Given the description of an element on the screen output the (x, y) to click on. 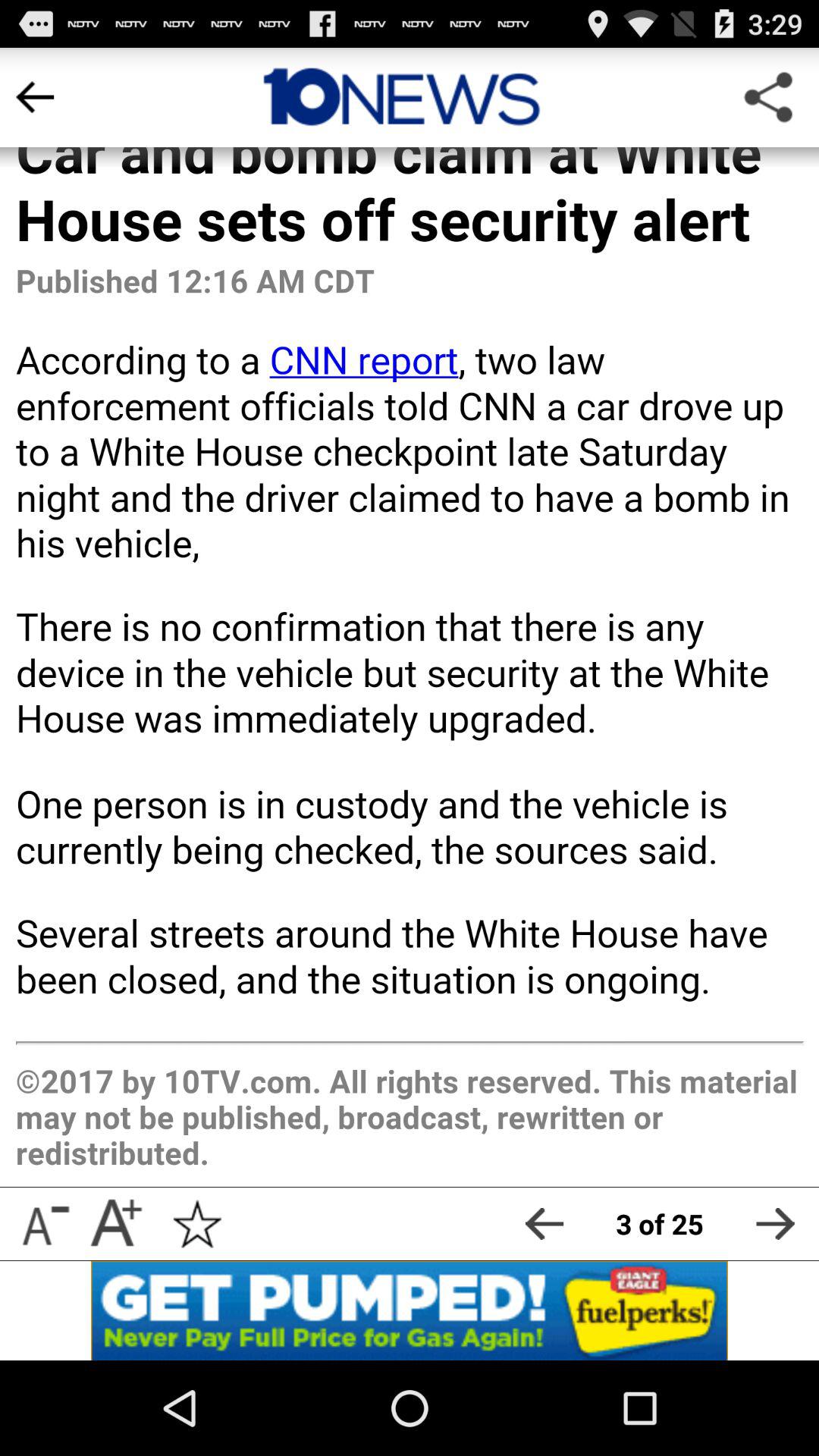
body (409, 616)
